Given the description of an element on the screen output the (x, y) to click on. 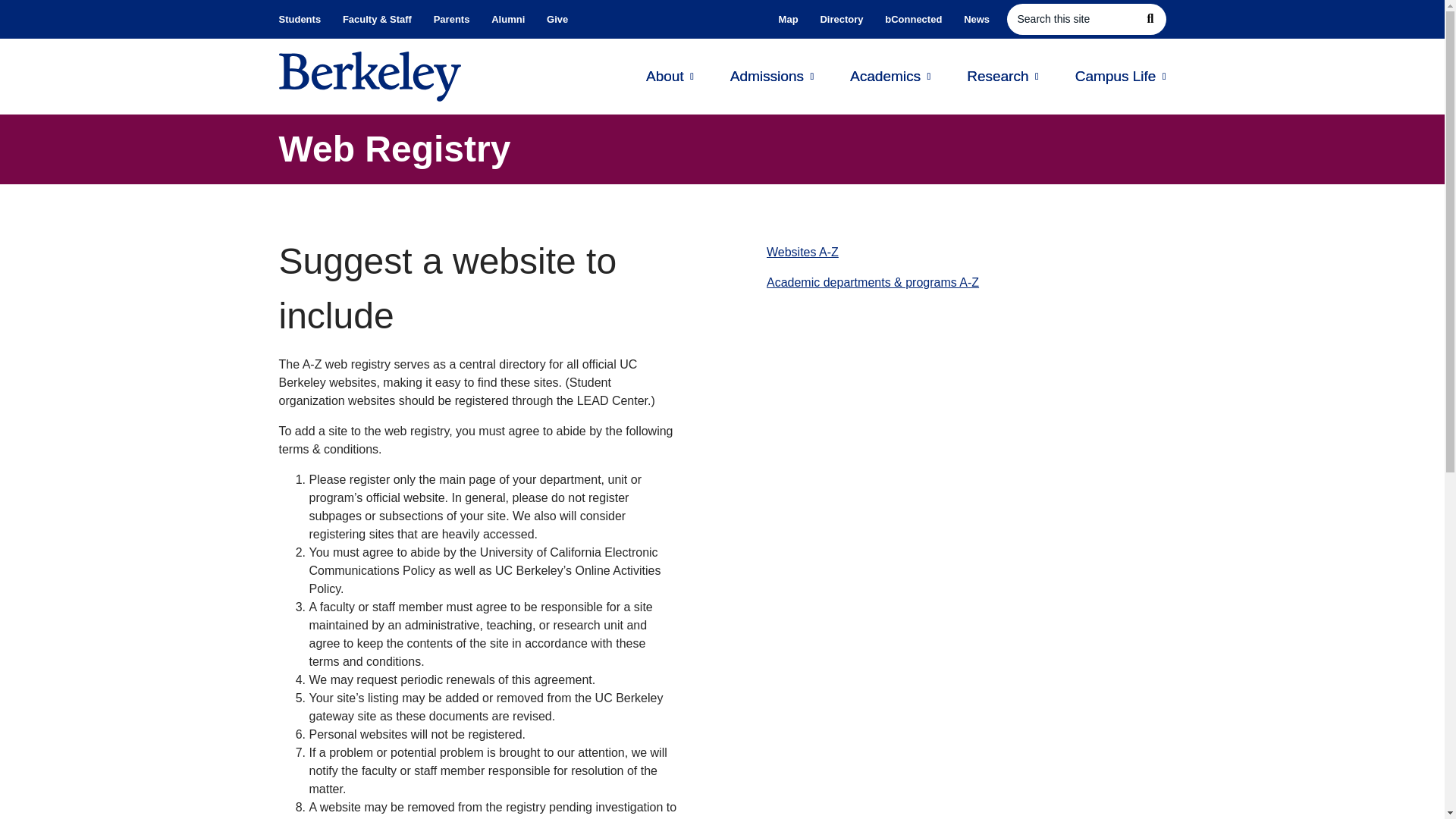
Students (305, 19)
Academics (890, 76)
About (670, 76)
Websites A-Z (802, 251)
bConnected (914, 19)
Search (1149, 18)
Research (1002, 76)
Campus Life (1120, 76)
News (977, 19)
Directory (842, 19)
Map (788, 19)
Alumni (507, 19)
Admissions (771, 76)
Give (557, 19)
Parents (451, 19)
